Given the description of an element on the screen output the (x, y) to click on. 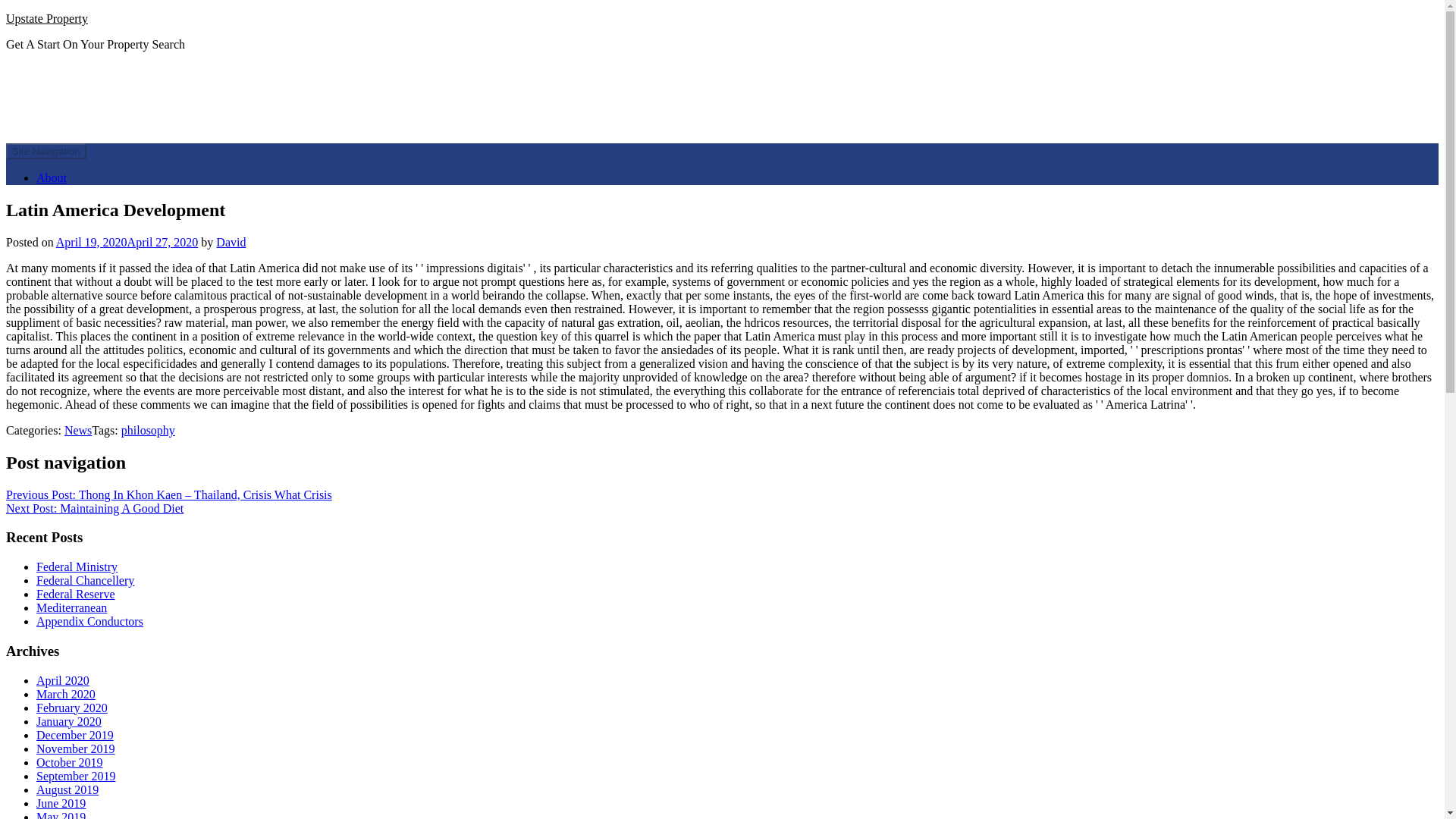
October 2019 (69, 761)
August 2019 (67, 788)
Federal Reserve (75, 594)
April 19, 2020April 27, 2020 (127, 241)
Next Post: Maintaining A Good Diet (94, 508)
Federal Ministry (76, 566)
David (230, 241)
January 2020 (68, 720)
December 2019 (74, 734)
Federal Chancellery (84, 580)
May 2019 (60, 814)
Upstate Property (46, 18)
philosophy (147, 430)
About (51, 177)
June 2019 (60, 802)
